Given the description of an element on the screen output the (x, y) to click on. 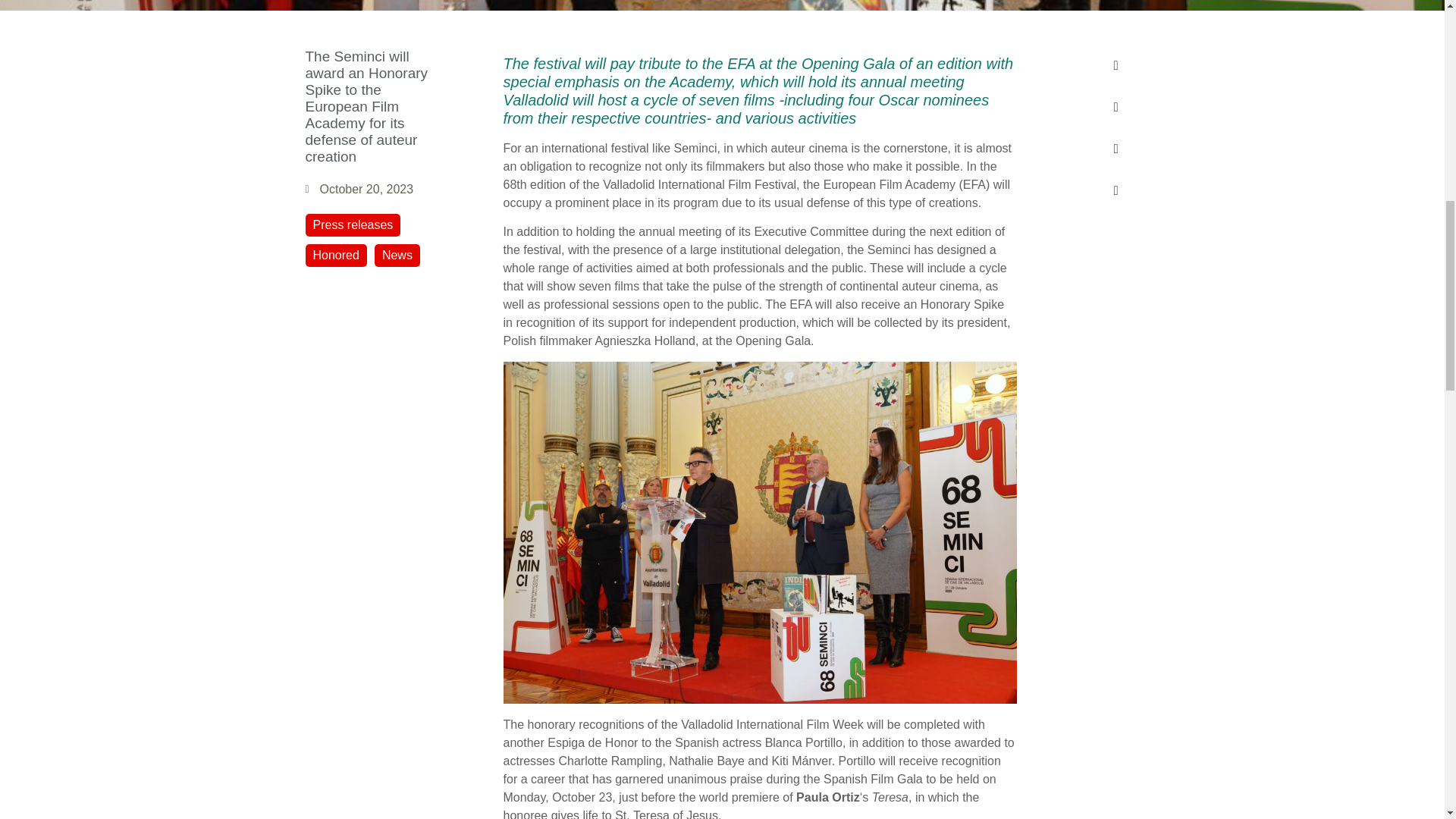
News (397, 255)
Press releases (352, 224)
Honored (335, 255)
October 20, 2023 (358, 189)
